Given the description of an element on the screen output the (x, y) to click on. 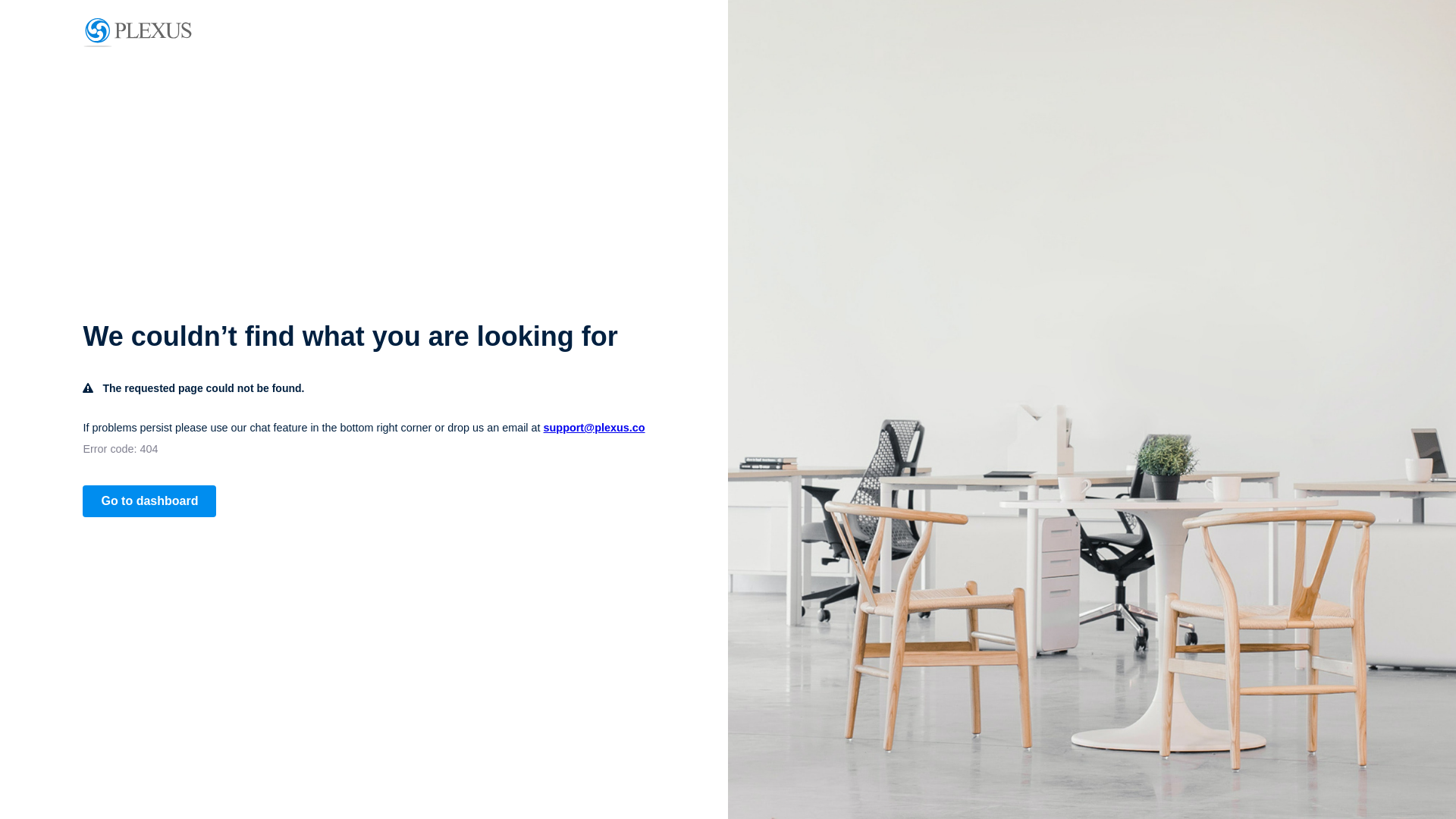
Go to dashboard Element type: text (149, 501)
support@plexus.co Element type: text (594, 427)
